Given the description of an element on the screen output the (x, y) to click on. 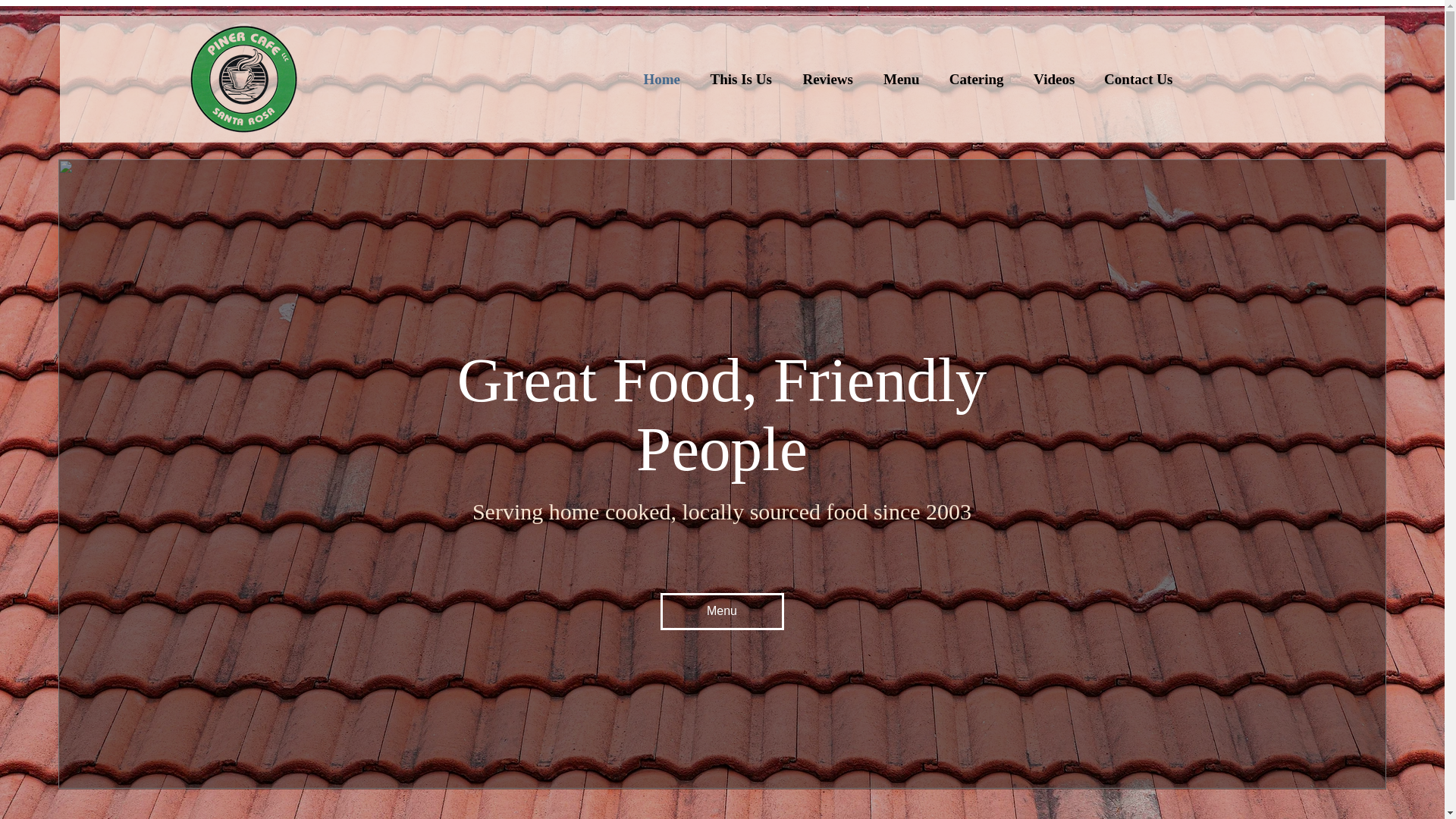
Home (661, 79)
This Is Us (741, 79)
Catering (976, 79)
Contact Us (1138, 79)
Reviews (828, 79)
Videos (1054, 79)
Menu (901, 79)
img004 PINER LOGO 001.png (243, 78)
Menu (721, 610)
